Given the description of an element on the screen output the (x, y) to click on. 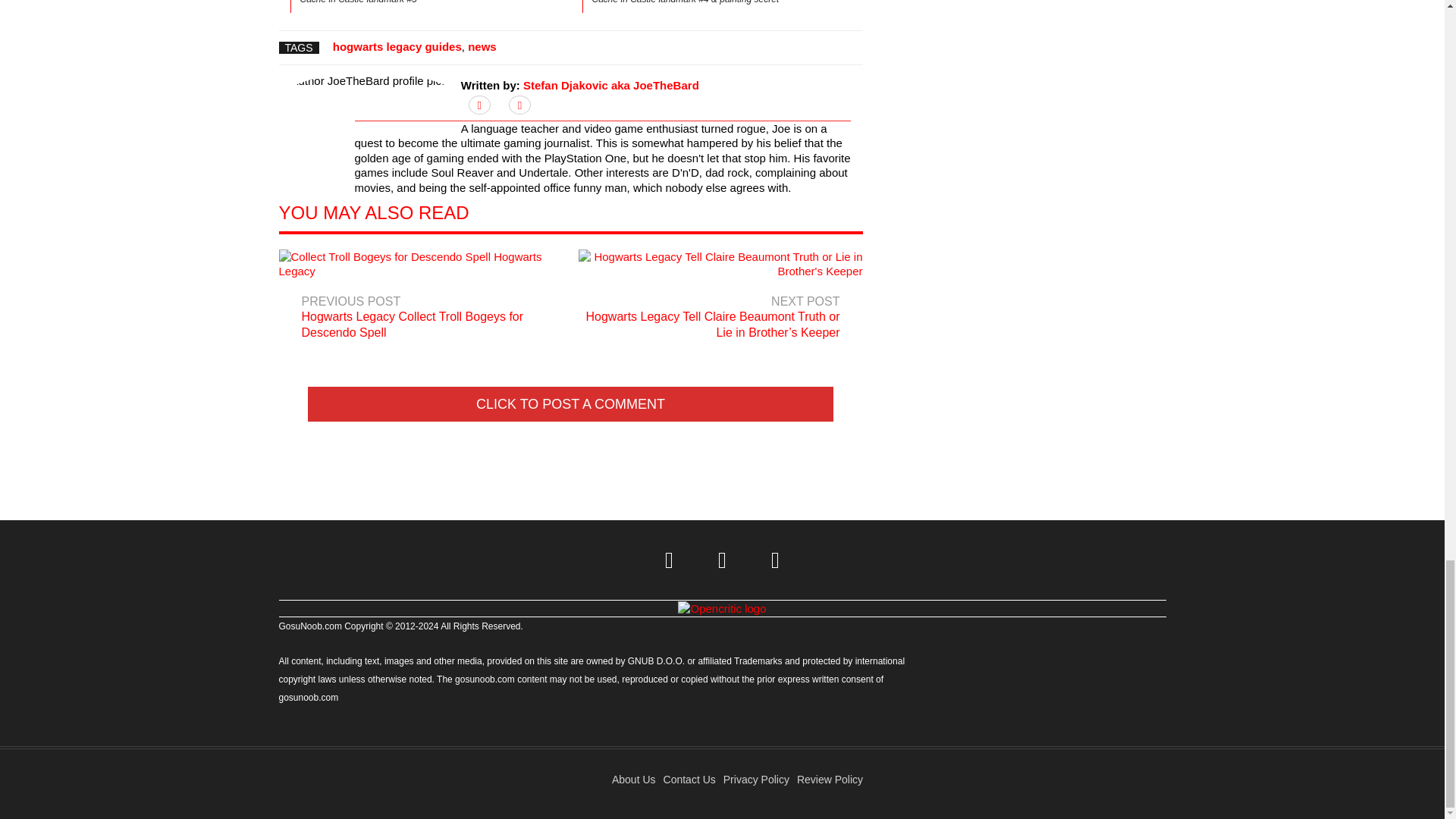
news (481, 46)
Youtube Channel (776, 559)
Author Twitter Profile (479, 104)
Contact author (519, 104)
Facebook Profile page (722, 559)
Stefan Djakovic aka JoeTheBard (610, 84)
hogwarts legacy guides (397, 46)
Twitter Profile (669, 559)
